Given the description of an element on the screen output the (x, y) to click on. 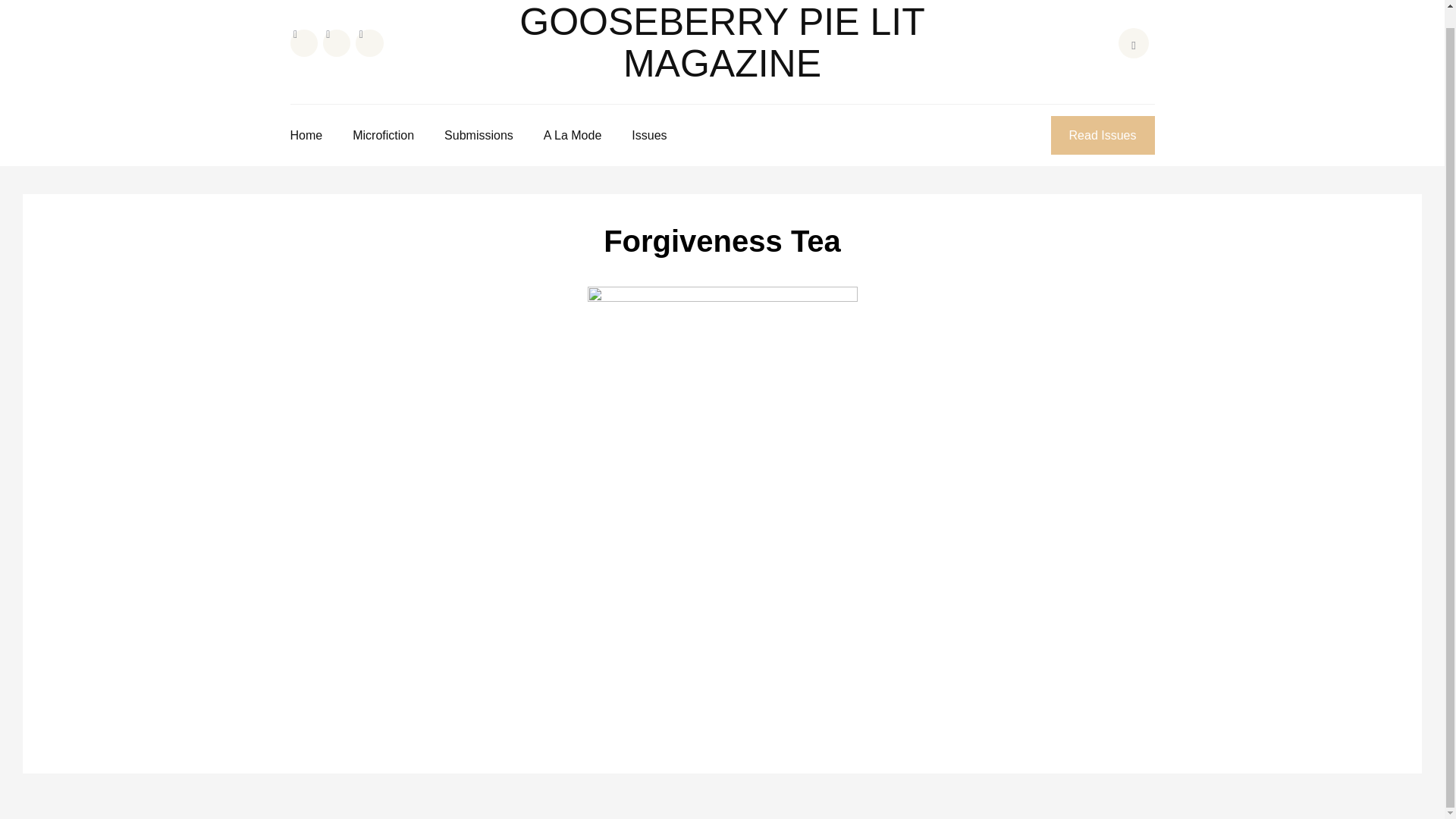
Issues (648, 134)
Microfiction (382, 134)
Submissions (478, 134)
GOOSEBERRY PIE LIT MAGAZINE (721, 42)
Read Issues (1102, 135)
Home (305, 134)
A La Mode (572, 134)
